Given the description of an element on the screen output the (x, y) to click on. 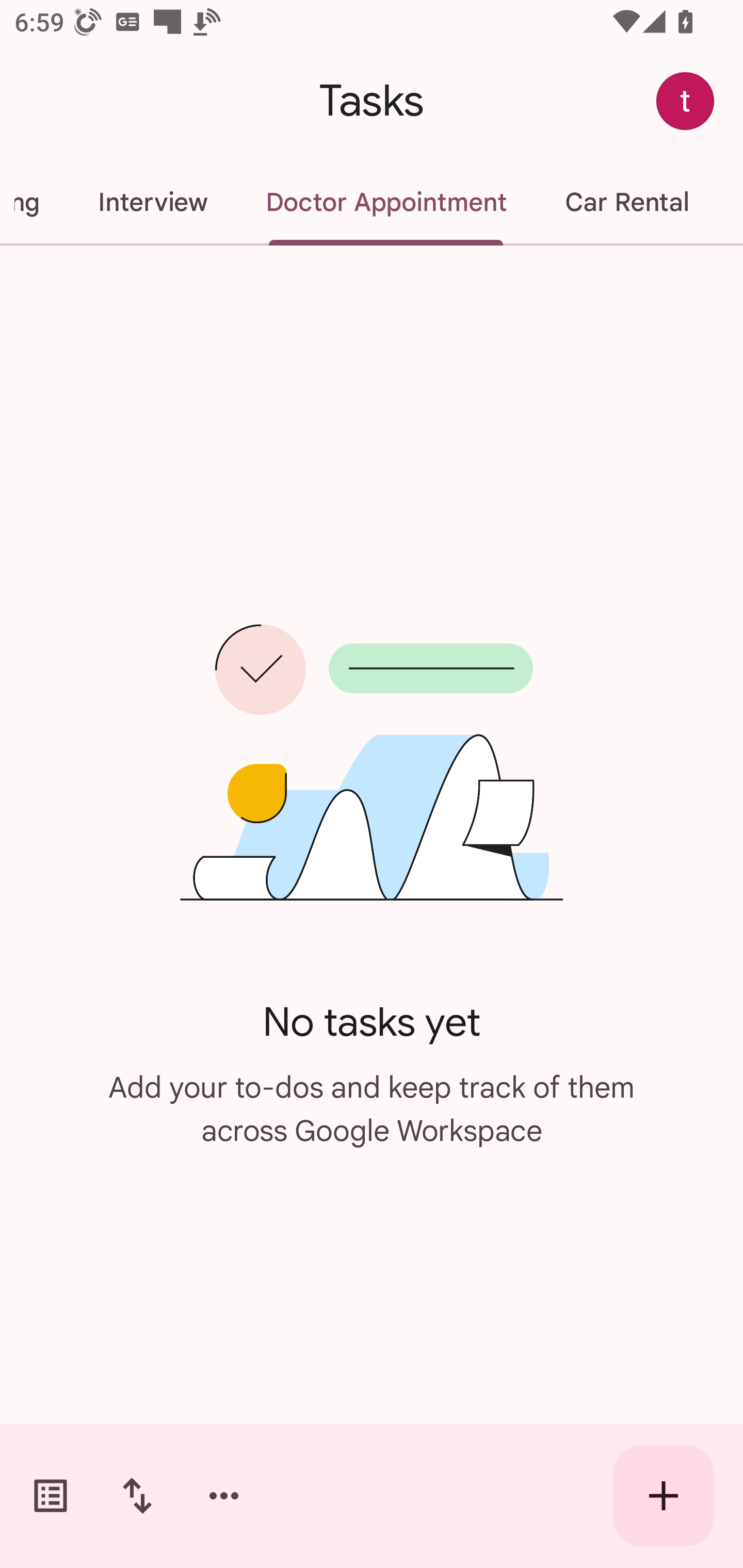
Interview (152, 202)
Car Rental (626, 202)
Switch task lists (50, 1495)
Create new task (663, 1495)
Change sort order (136, 1495)
More options (223, 1495)
